Given the description of an element on the screen output the (x, y) to click on. 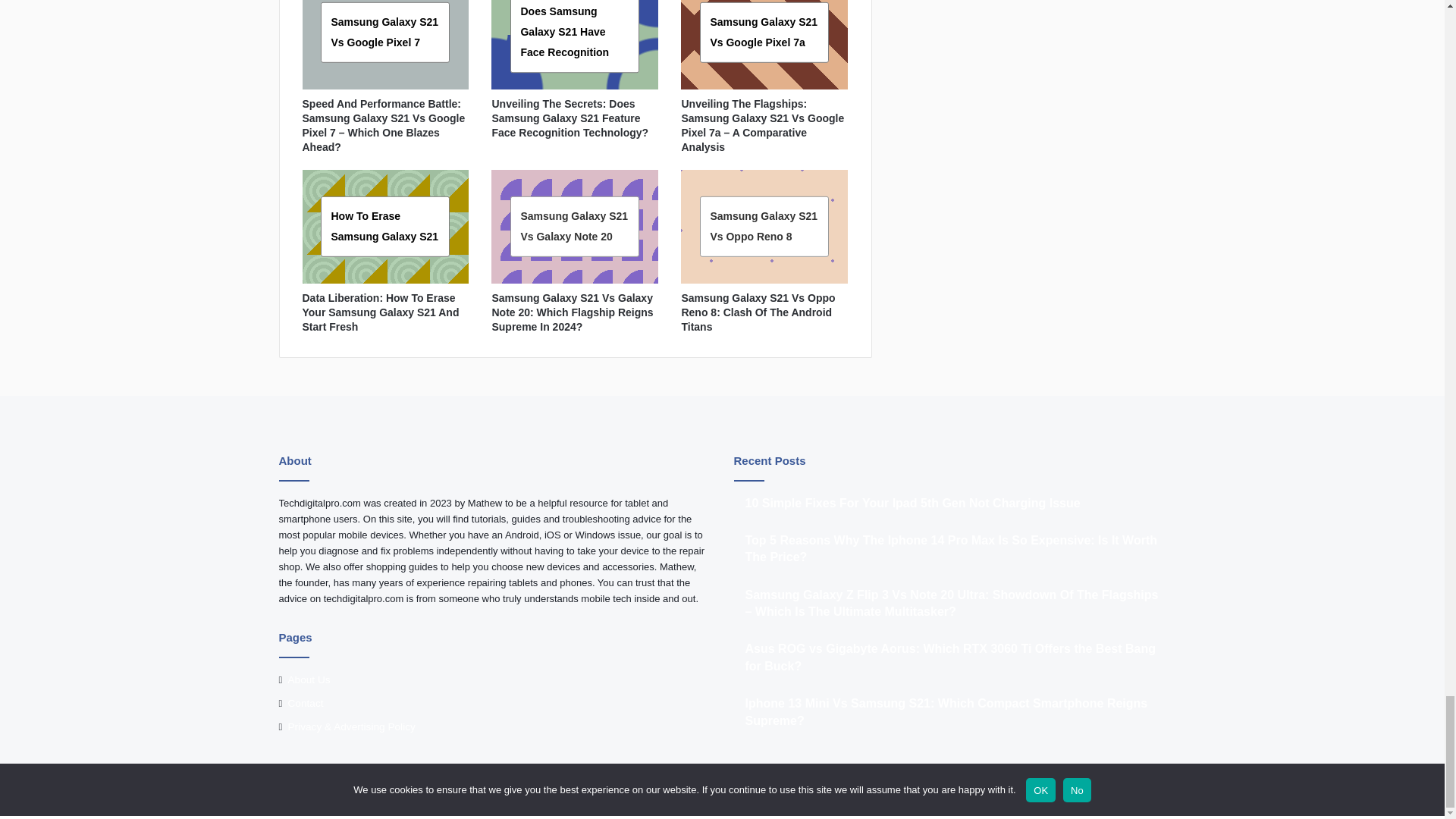
Does Samsung Galaxy S21 Have Face Recognition (563, 31)
Samsung Galaxy S21 Vs Google Pixel 7 (384, 31)
